Given the description of an element on the screen output the (x, y) to click on. 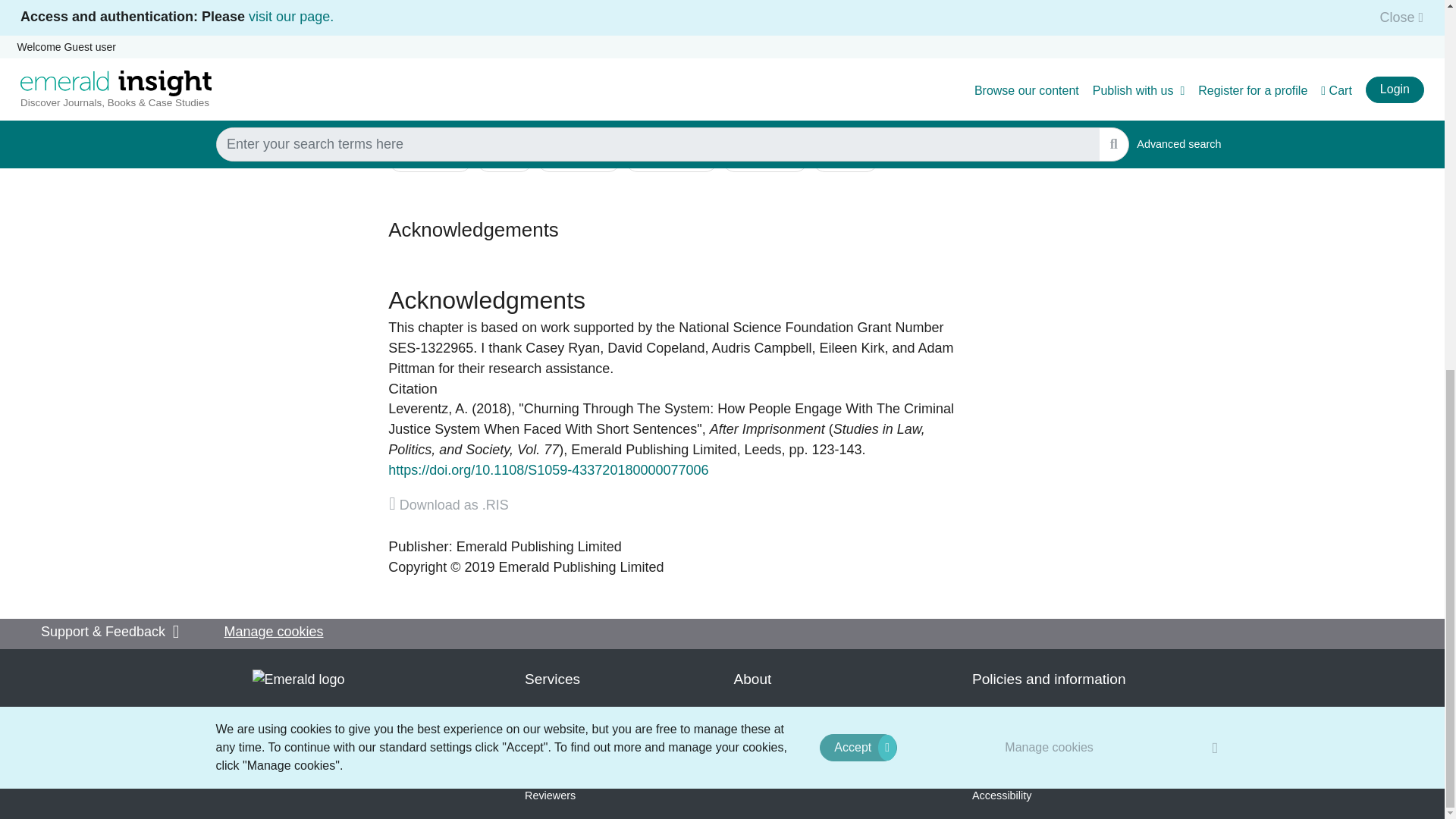
Search for keyword Probation (844, 159)
Search for keyword Reentry (504, 159)
Search for keyword Legal cynicism (670, 159)
Search for keyword Rabble class (578, 159)
Manage cookies (1049, 74)
Accept (857, 74)
Andrea Leverentz (427, 408)
Search for keyword Social control (765, 159)
Search for keyword Incarceration (429, 159)
